Given the description of an element on the screen output the (x, y) to click on. 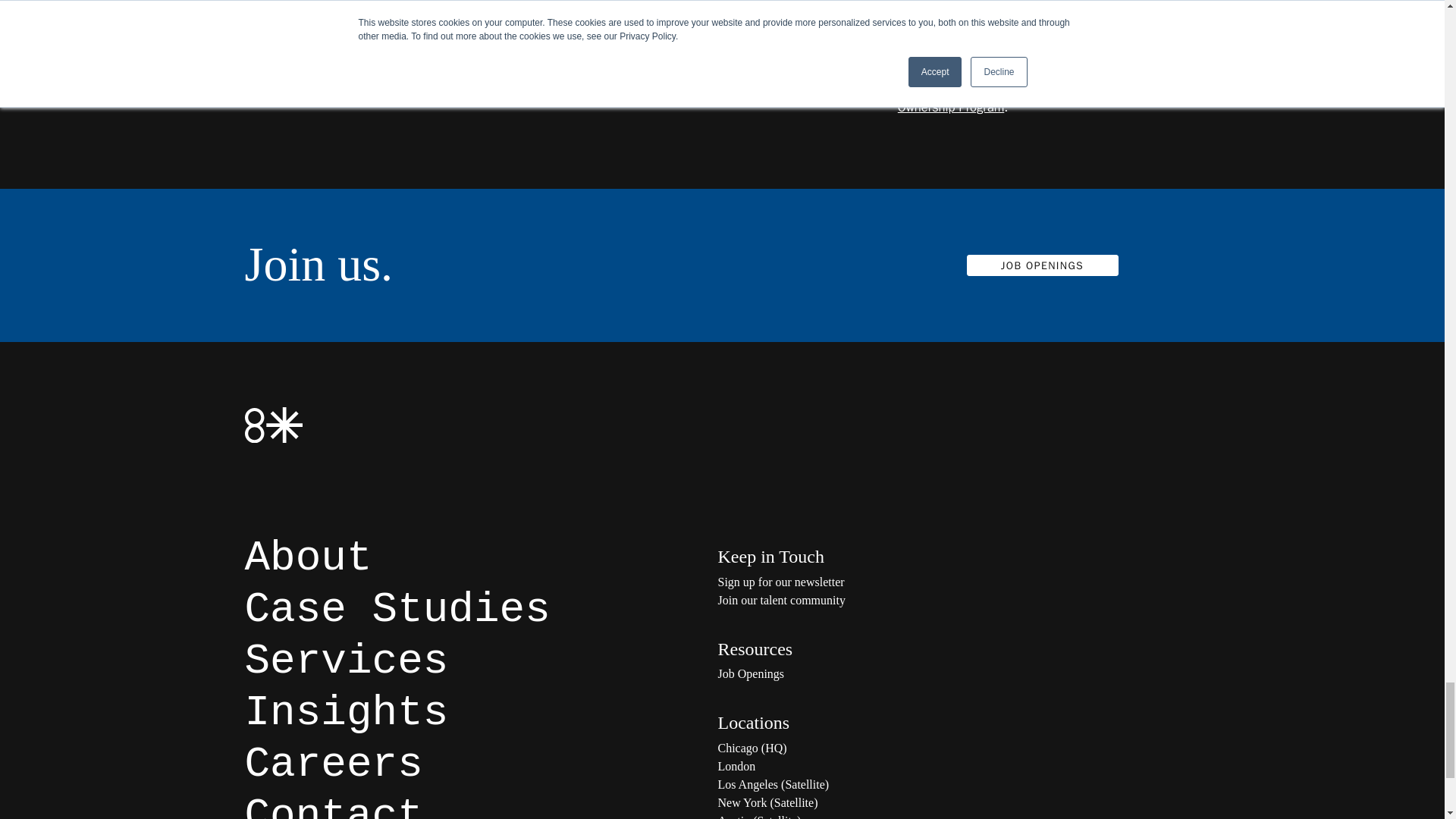
Contact (333, 805)
Careers (333, 764)
Case Studies (397, 609)
Join our talent community (868, 600)
JOB OPENINGS (1043, 265)
Job Openings (868, 674)
Insights (346, 712)
Services (346, 661)
About (307, 557)
8th Light Employee Ownership Program (1020, 97)
